Given the description of an element on the screen output the (x, y) to click on. 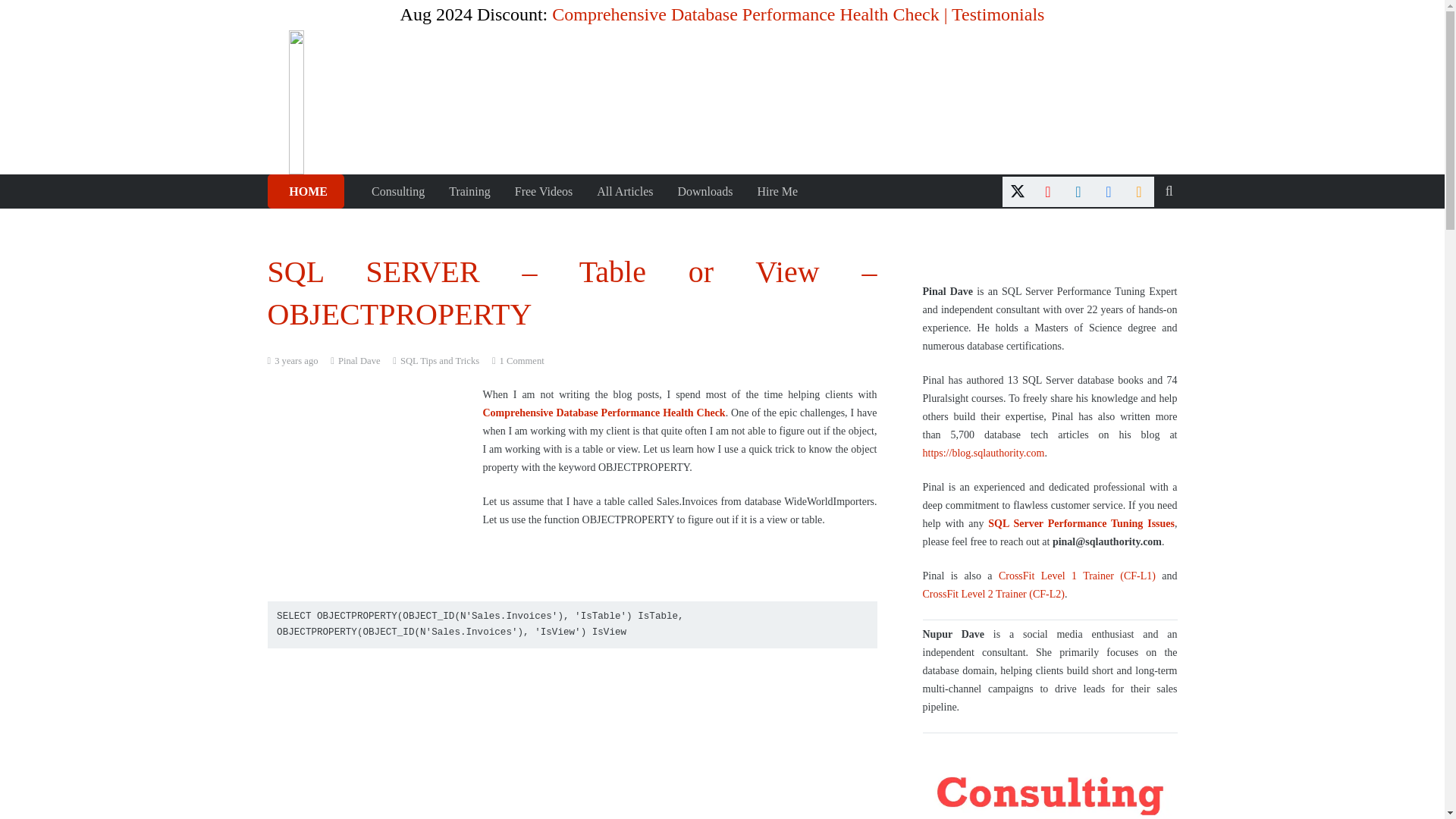
Testimonials (997, 14)
Downloads (704, 191)
1 Comment (521, 360)
HOME (304, 191)
SQL Tips and Tricks (439, 360)
Training (469, 191)
1 Comment (521, 360)
Hire Me (776, 191)
Pinal Dave (358, 361)
SQL SERVER - Table or View - OBJECTPROPERTY OBJECTPROPERTY  (410, 741)
